Given the description of an element on the screen output the (x, y) to click on. 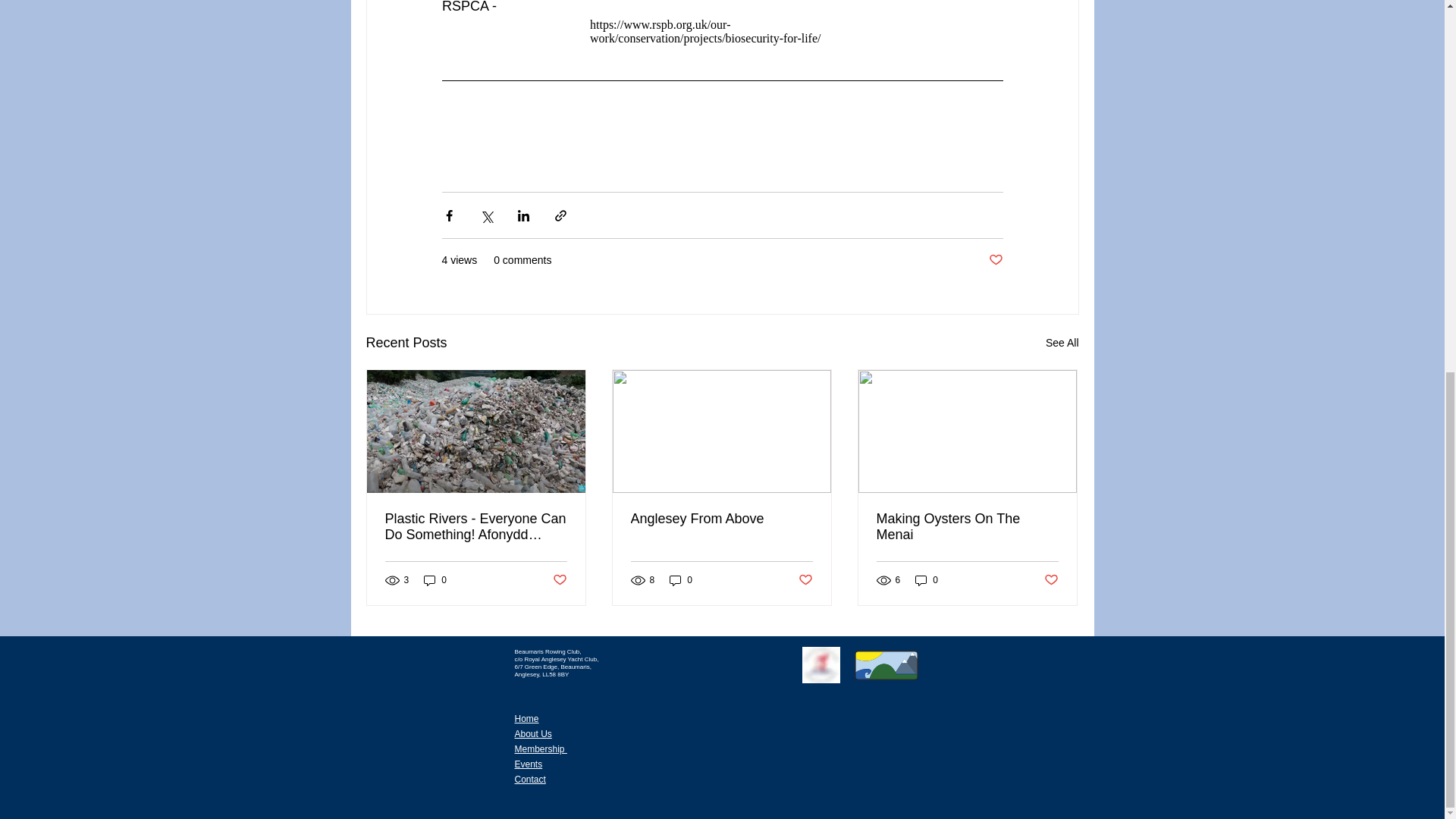
remote content (722, 31)
Home (525, 718)
About Us (532, 733)
Post not marked as liked (558, 580)
Making Oysters On The Menai (967, 526)
Post not marked as liked (995, 260)
Post not marked as liked (1050, 580)
Anglesey From Above (721, 519)
Membership  (539, 748)
Welsh Sea Rowing (821, 665)
0 (681, 579)
See All (1061, 342)
0 (435, 579)
Post not marked as liked (804, 580)
